Given the description of an element on the screen output the (x, y) to click on. 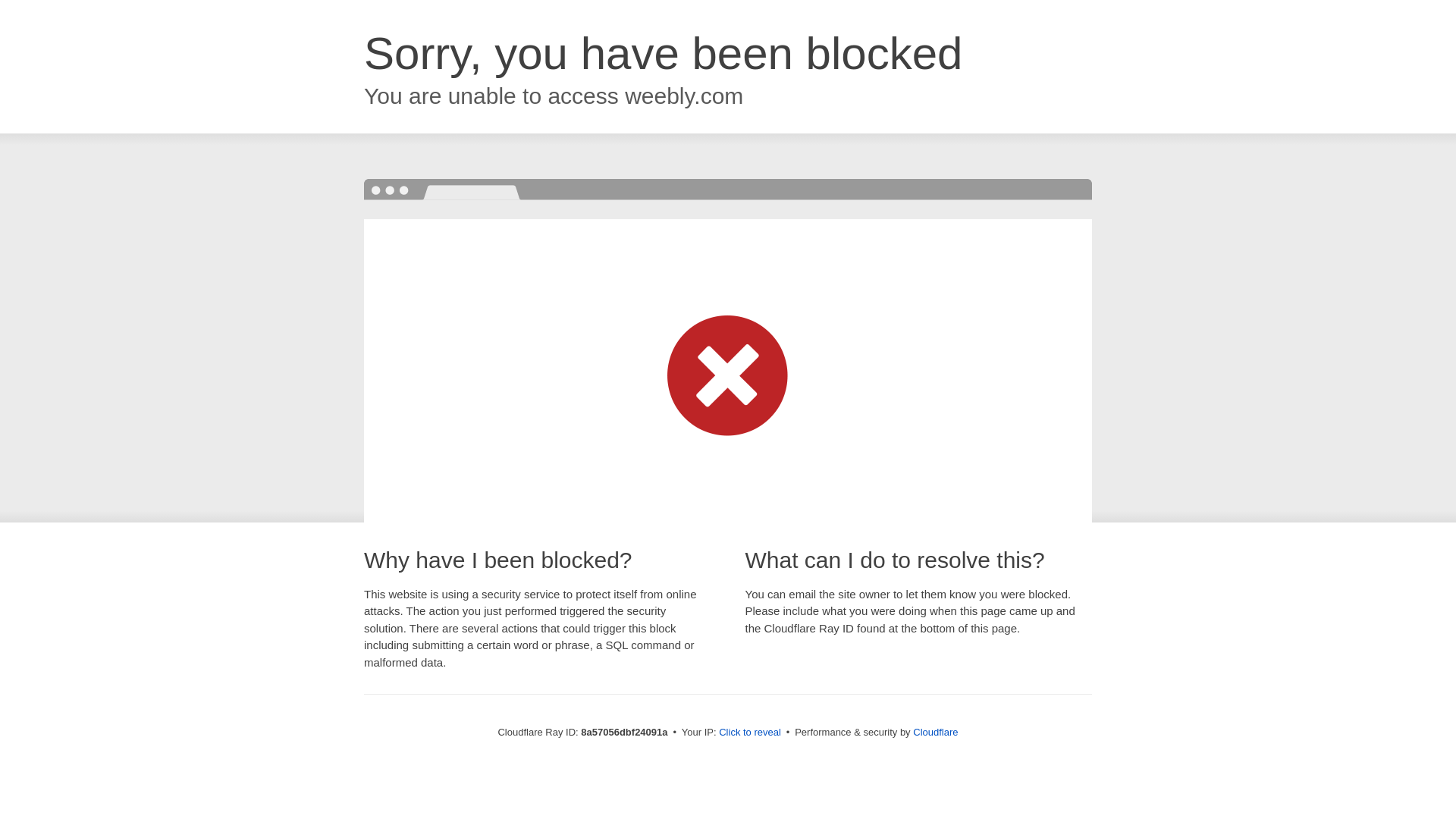
Click to reveal (749, 732)
Cloudflare (935, 731)
